Given the description of an element on the screen output the (x, y) to click on. 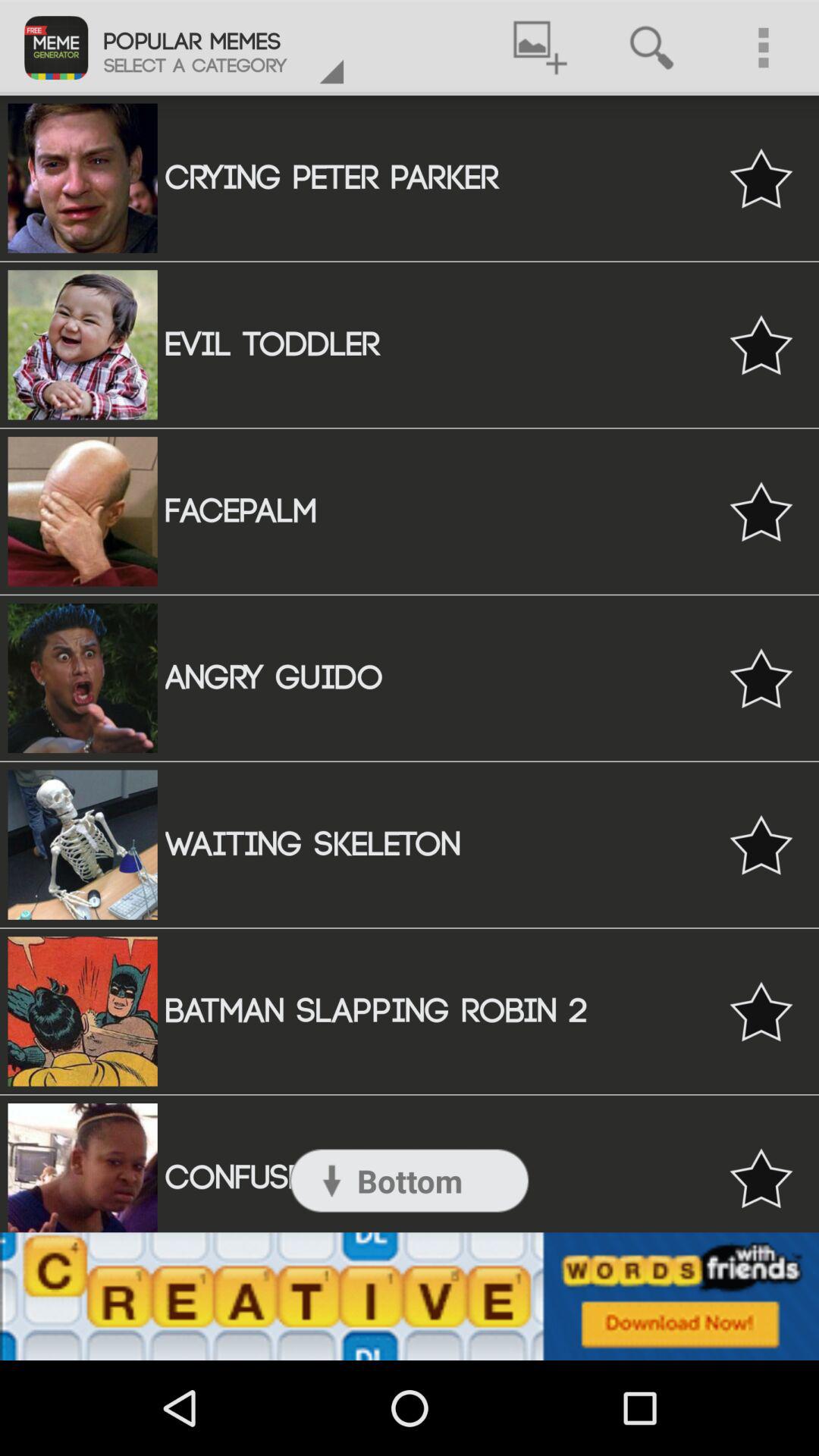
add to your list (761, 178)
